Given the description of an element on the screen output the (x, y) to click on. 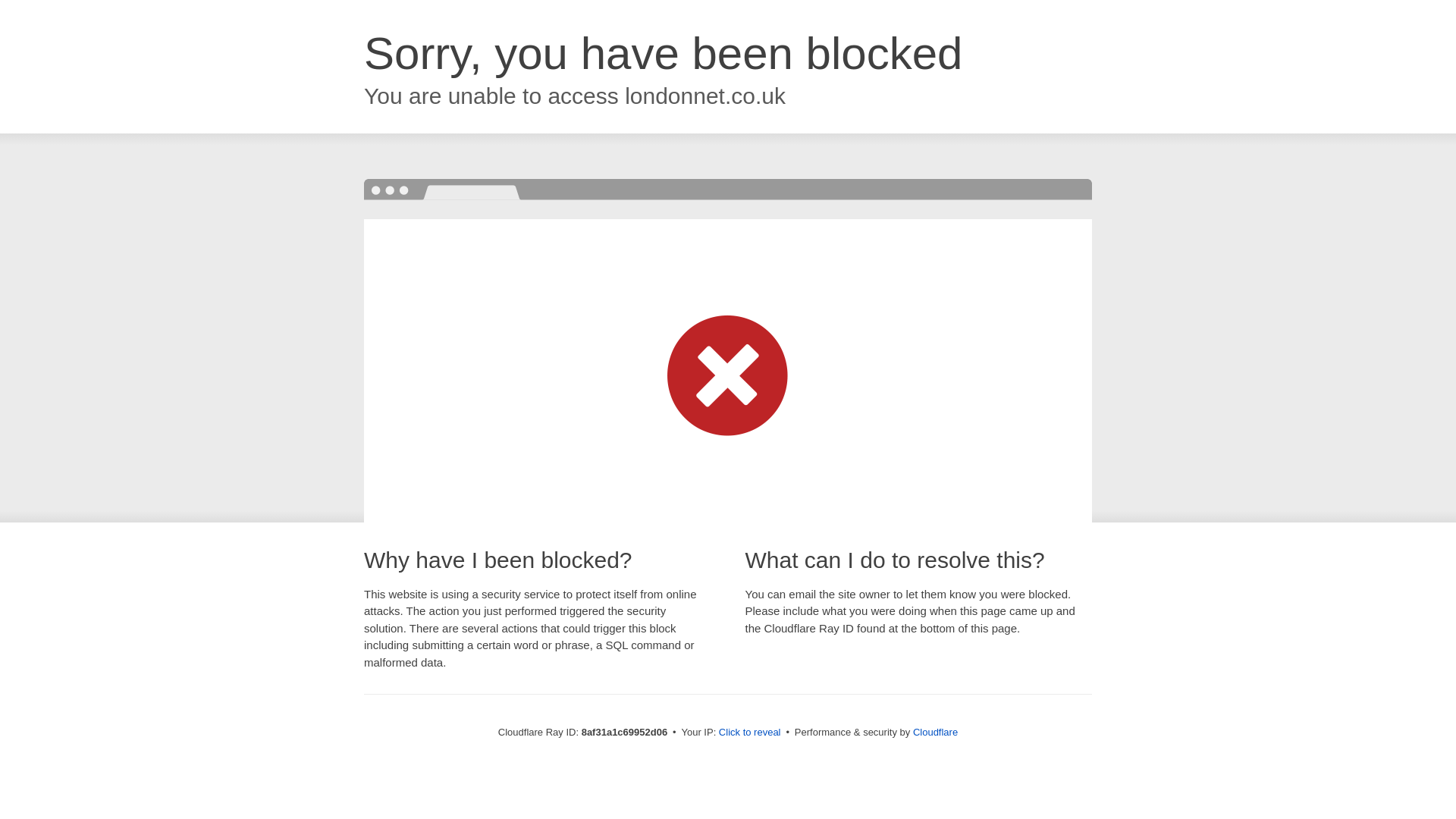
Click to reveal (749, 732)
Cloudflare (935, 731)
